Given the description of an element on the screen output the (x, y) to click on. 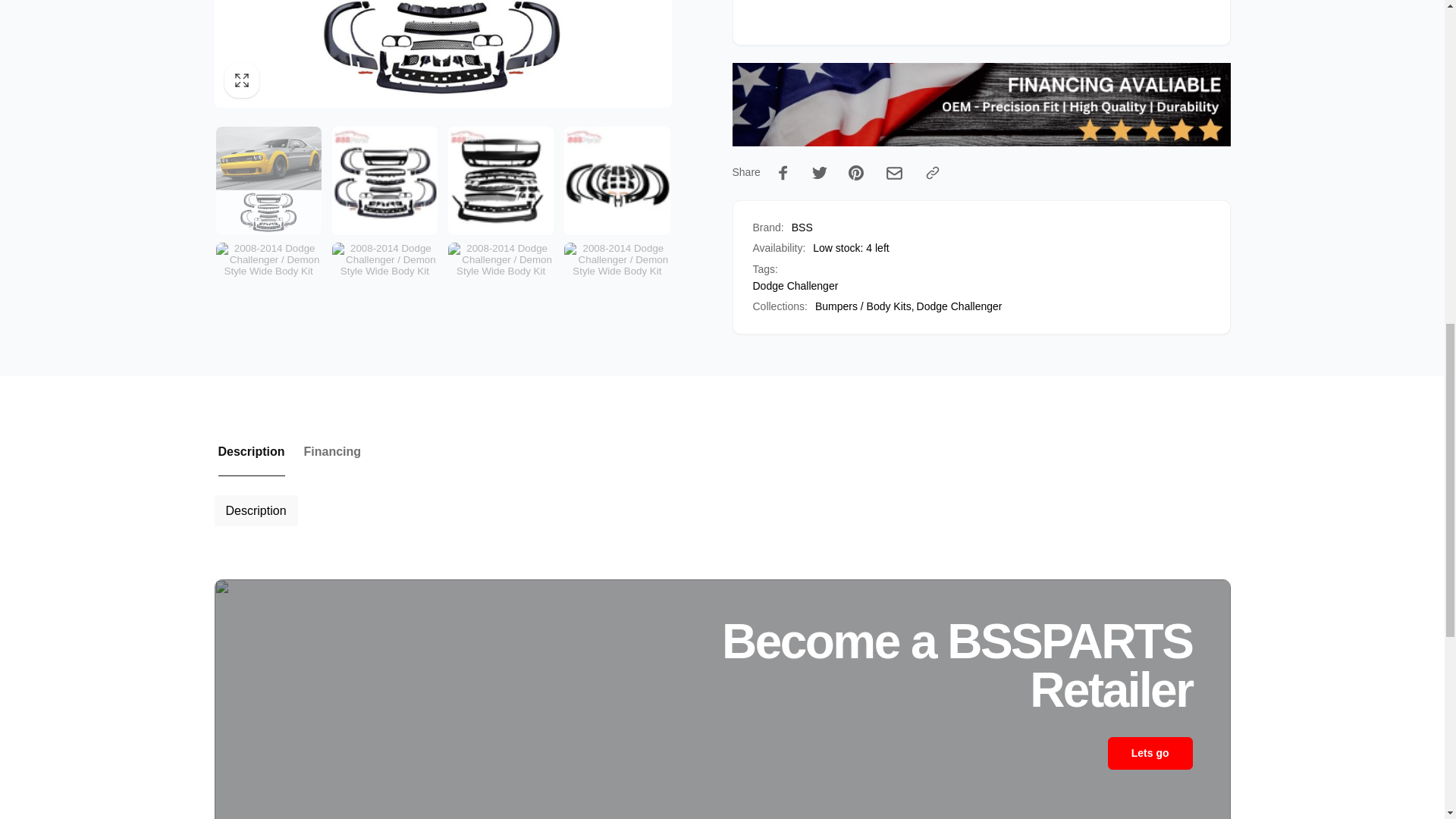
Show products matching tag Dodge Challenger (795, 285)
Dodge Challenger (960, 306)
